Given the description of an element on the screen output the (x, y) to click on. 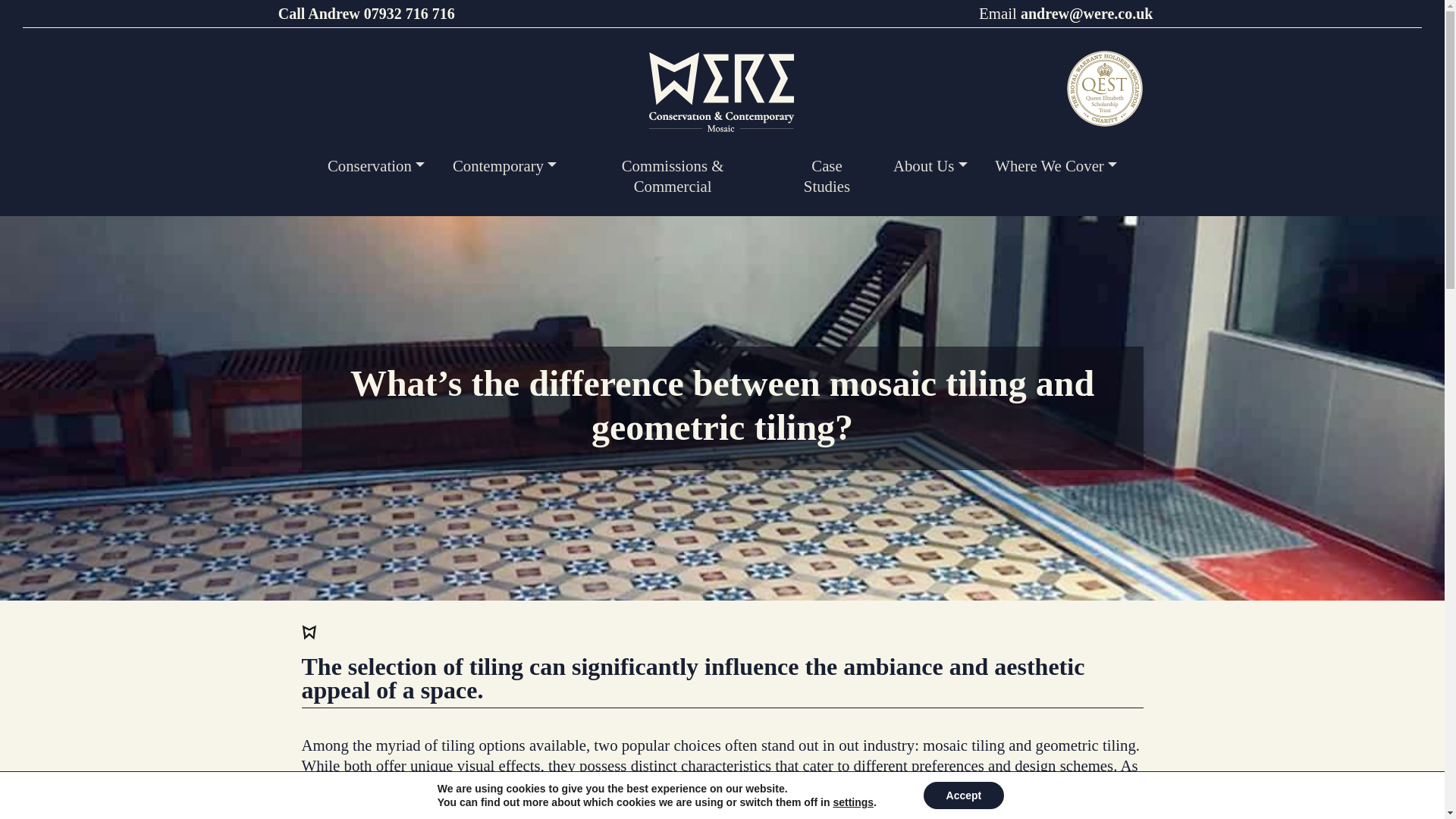
settings (852, 802)
Conservation (375, 165)
Accept (963, 795)
Call Andrew 07932 716 716 (366, 13)
Case Studies (826, 175)
About Us (930, 165)
Where We Cover (1055, 165)
Contemporary (504, 165)
